Given the description of an element on the screen output the (x, y) to click on. 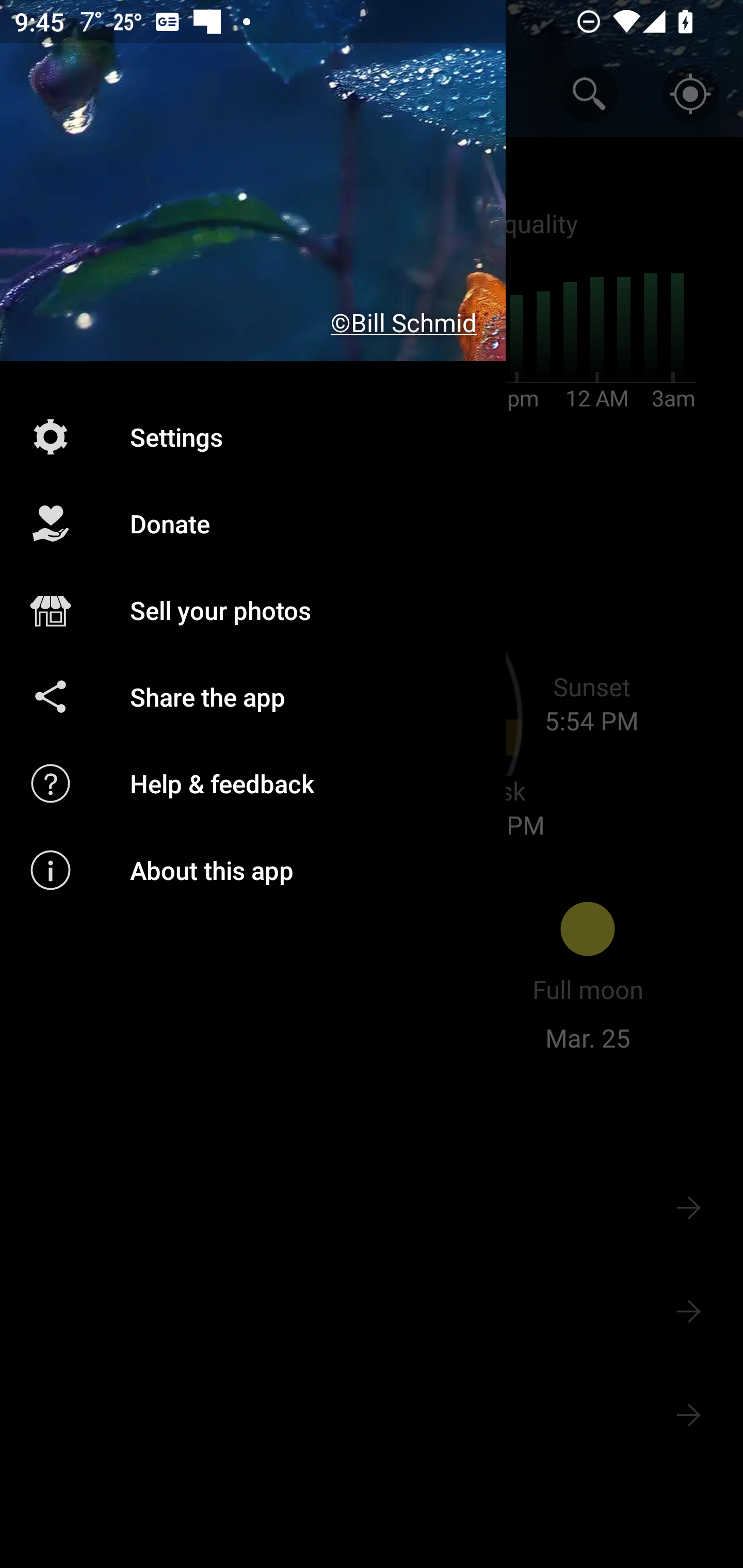
©Bill Schmid (252, 180)
Settings (252, 436)
Donate (252, 523)
Sell your photos (252, 610)
Share the app (252, 696)
Help & feedback (252, 783)
About this app (252, 870)
